Given the description of an element on the screen output the (x, y) to click on. 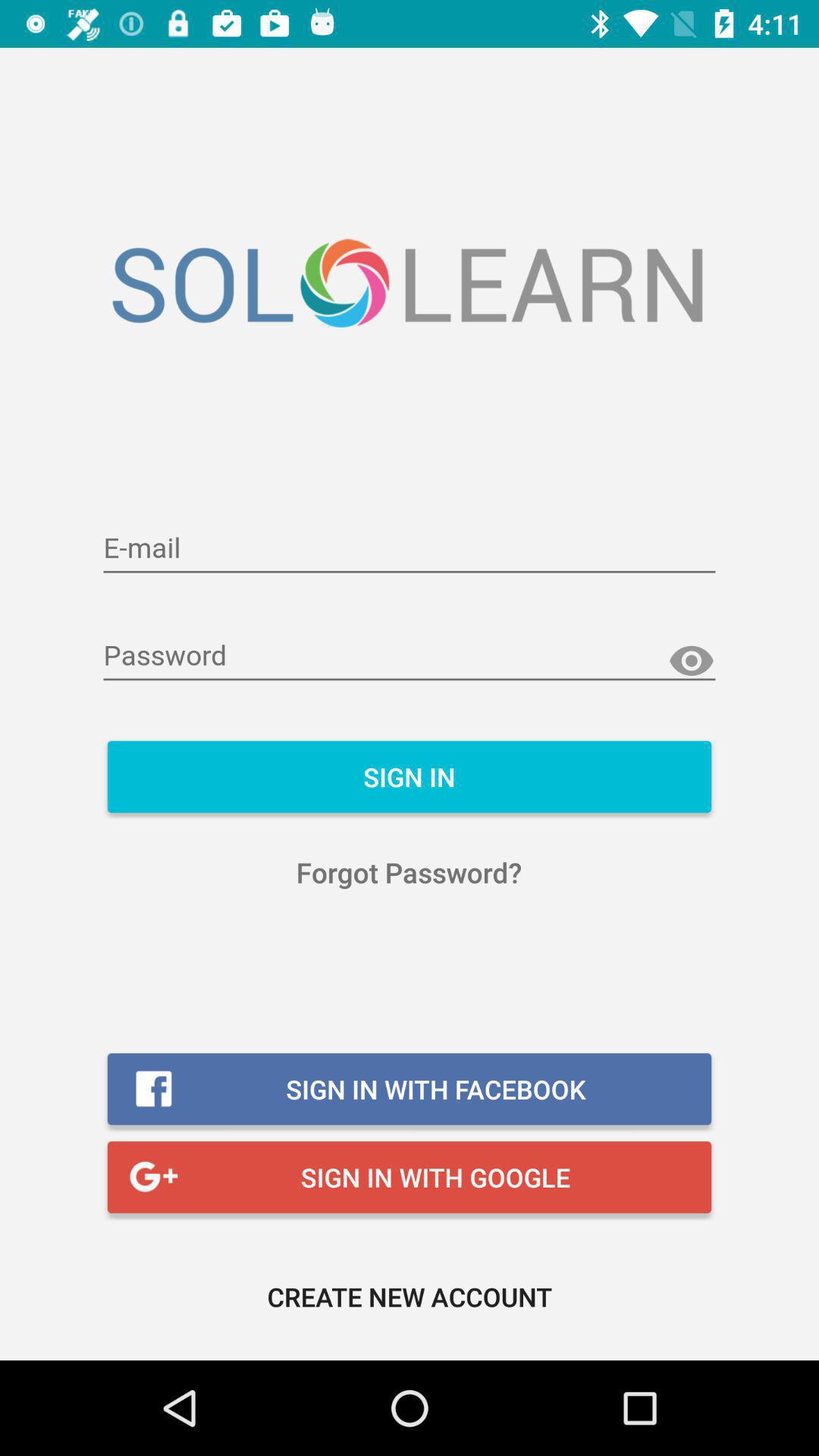
email textbox (409, 548)
